Given the description of an element on the screen output the (x, y) to click on. 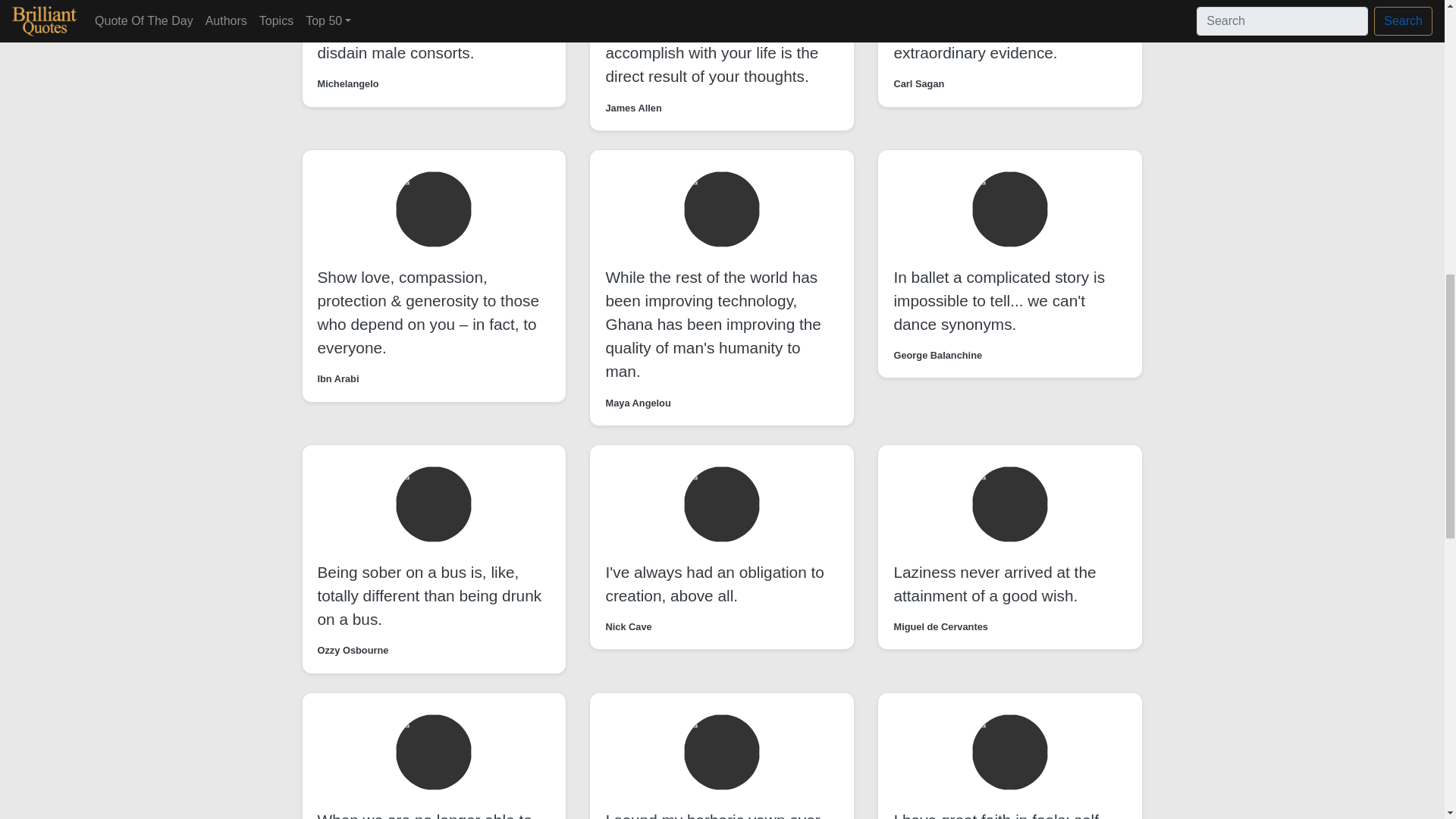
Ibn Arabi (337, 378)
James Allen (633, 107)
Michelangelo (347, 83)
George Balanchine (937, 355)
Even if you are divine, you don't disdain male consorts. (428, 40)
Maya Angelou (637, 402)
Carl Sagan (918, 83)
Ozzy Osbourne (352, 649)
